Given the description of an element on the screen output the (x, y) to click on. 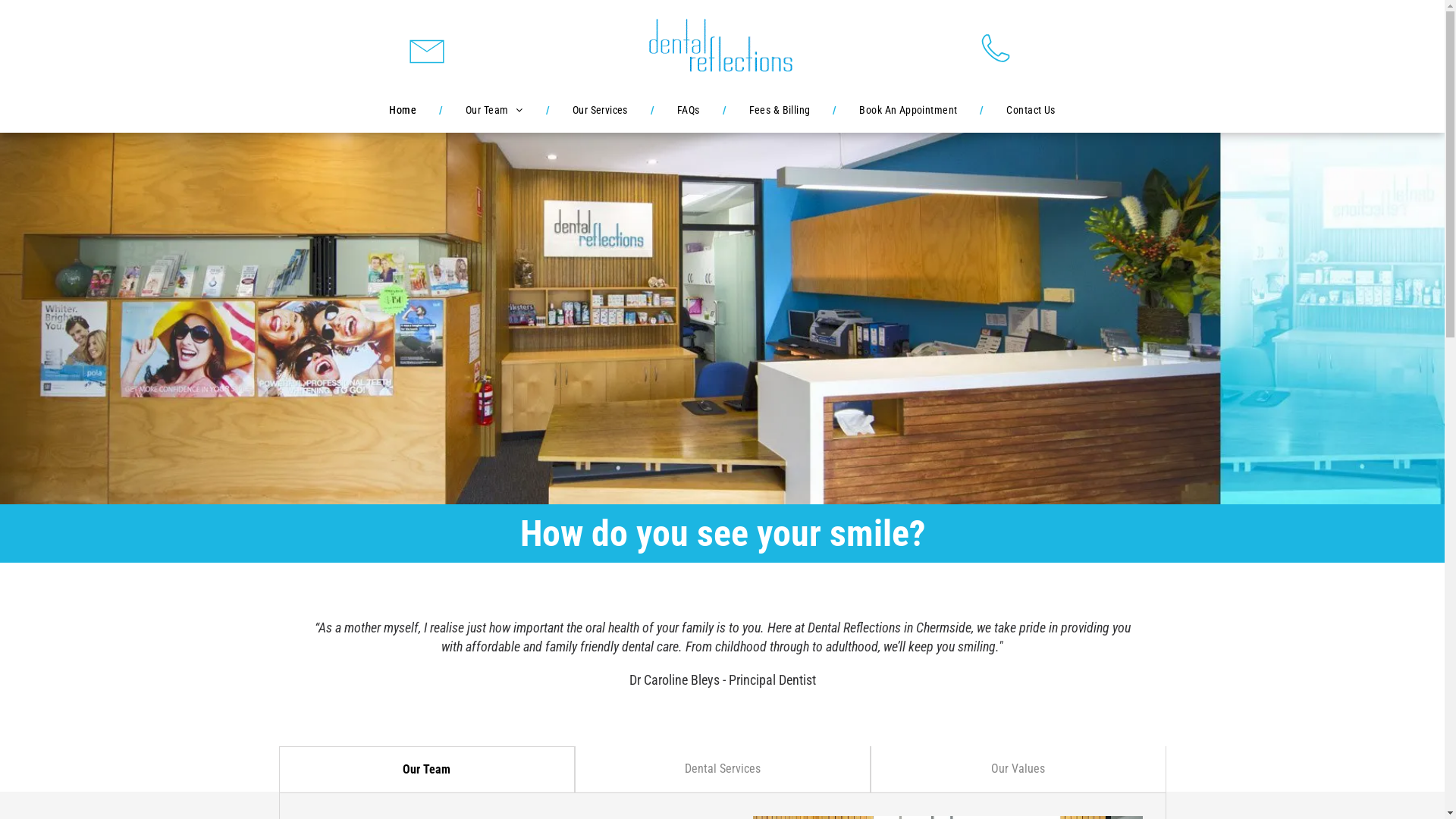
Home Element type: text (402, 110)
Contact Us Element type: text (1030, 110)
Our Services Element type: text (599, 110)
Fees & Billing Element type: text (779, 110)
Book An Appointment Element type: text (907, 110)
Our Team Element type: text (494, 110)
FAQs Element type: text (688, 110)
